Given the description of an element on the screen output the (x, y) to click on. 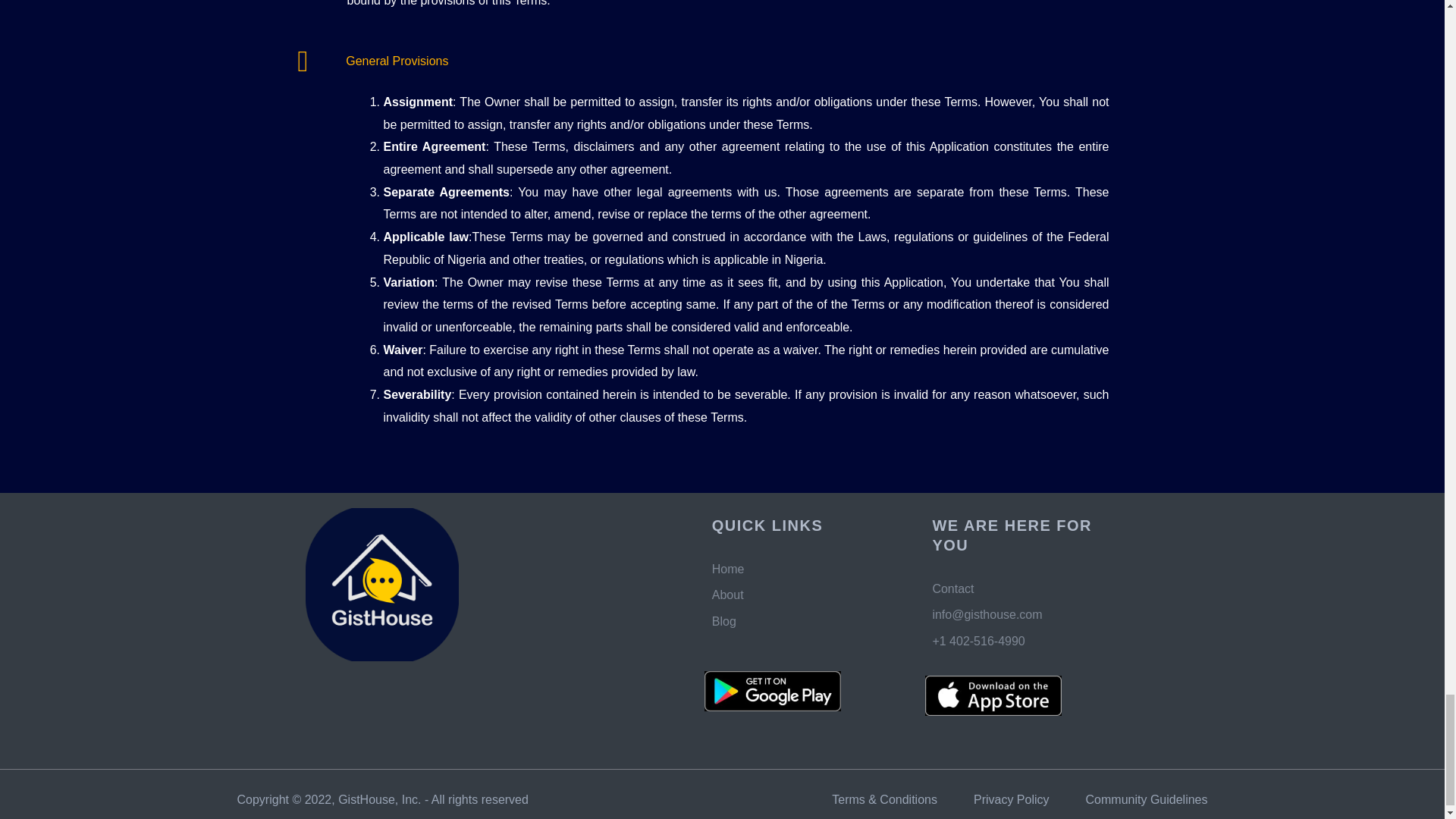
Community Guidelines (1147, 799)
Privacy Policy (1011, 799)
About (806, 594)
Contact (1028, 589)
Home (806, 568)
Blog (806, 621)
